Given the description of an element on the screen output the (x, y) to click on. 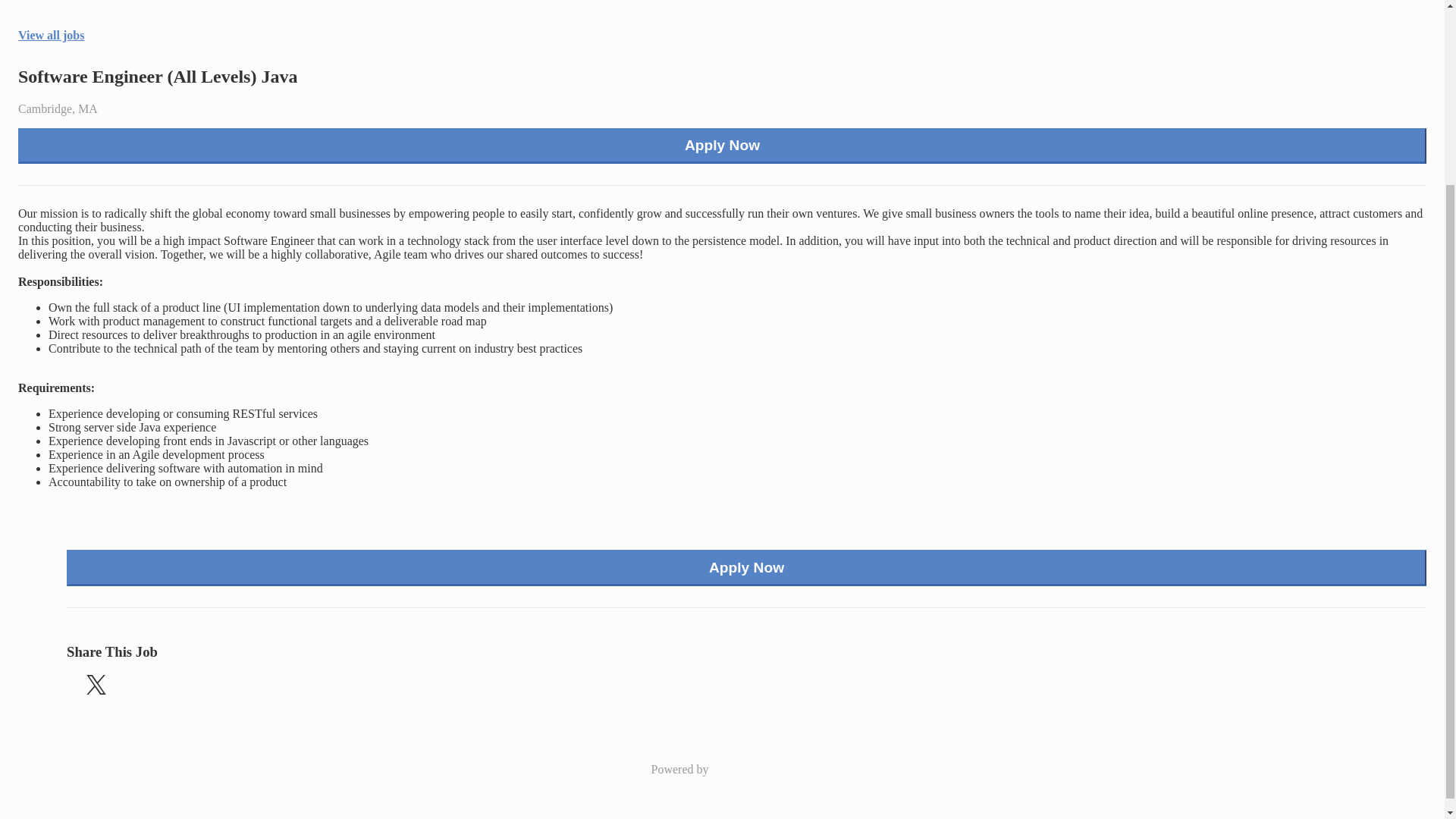
Apply Now (746, 567)
View all jobs (50, 35)
Apply Now (721, 145)
